Given the description of an element on the screen output the (x, y) to click on. 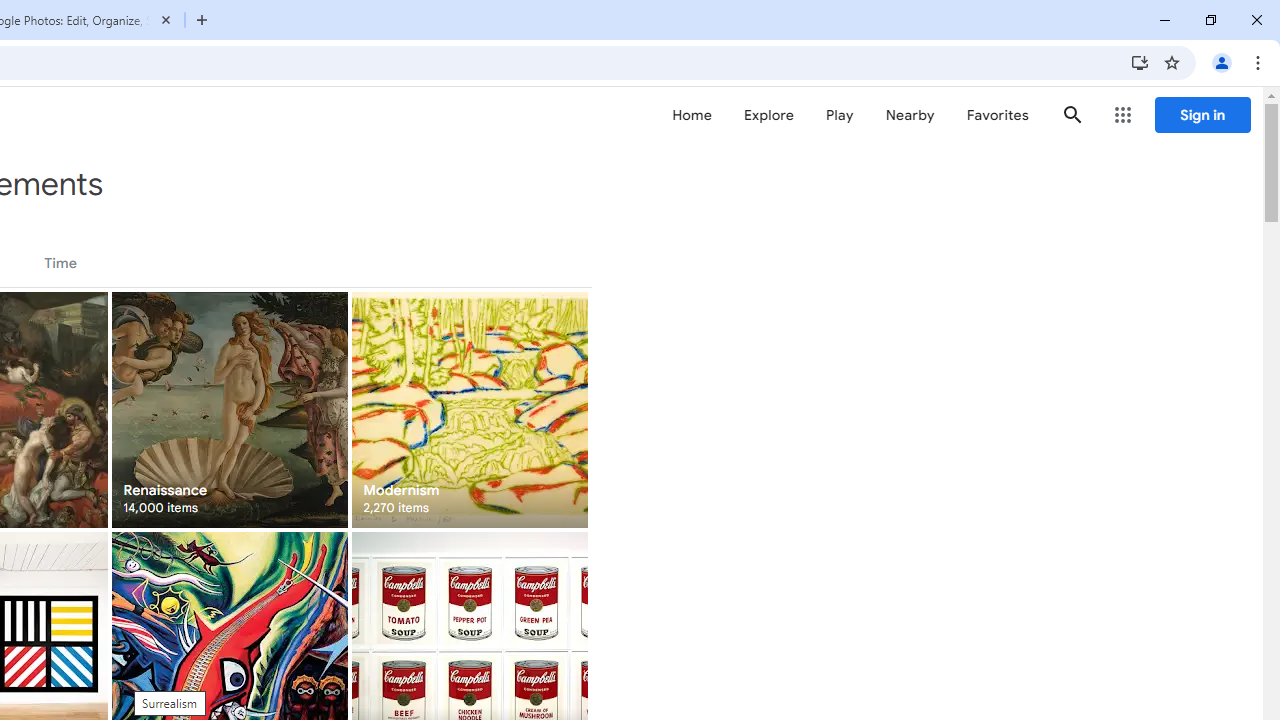
Renaissance 14,000 items (229, 409)
Play (840, 115)
Modernism 2,270 items (468, 409)
Install Google Arts & Culture (1139, 62)
